Given the description of an element on the screen output the (x, y) to click on. 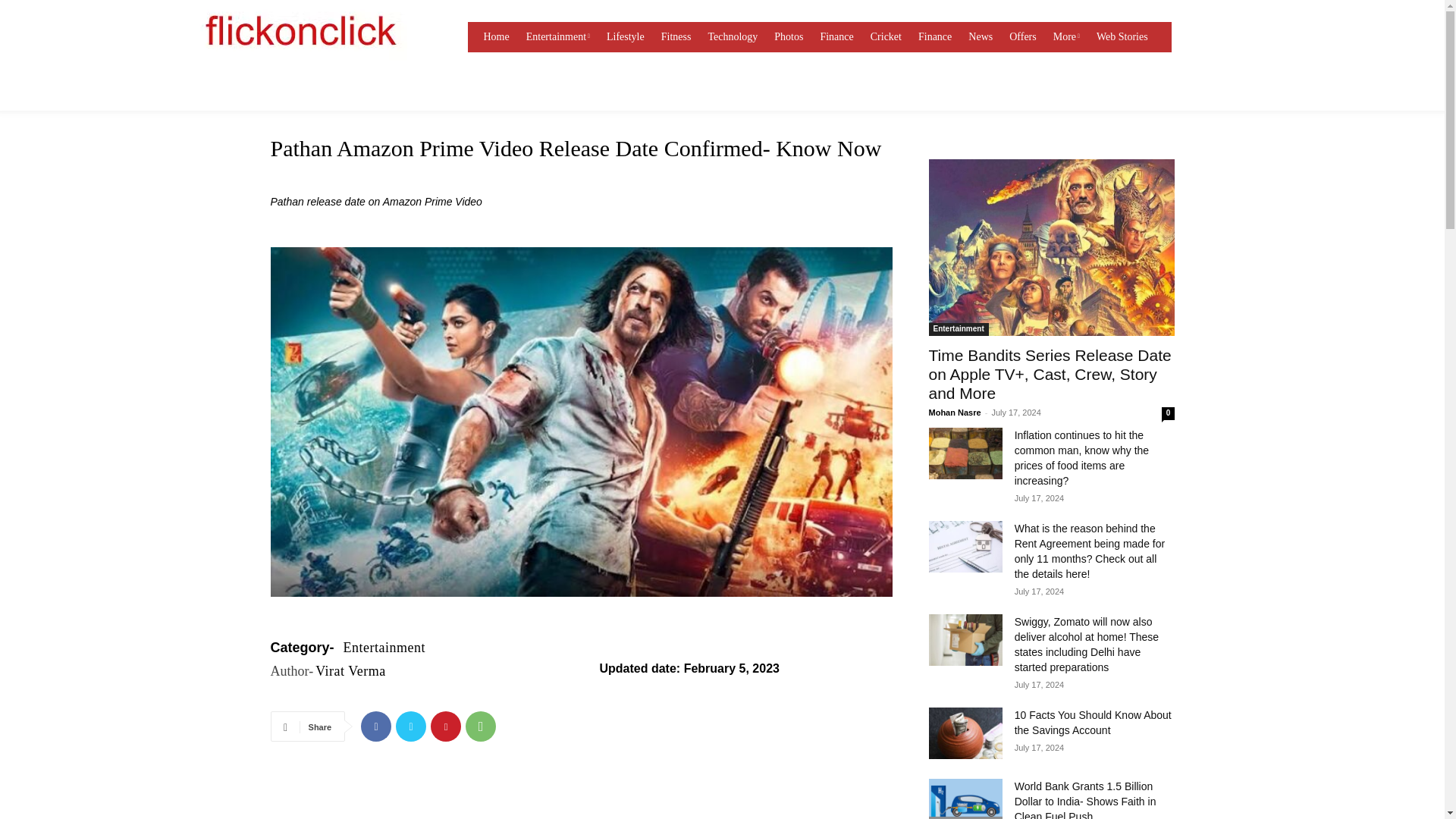
Advertisement (580, 804)
Lifestyle (625, 37)
WhatsApp (480, 726)
Technology (732, 37)
Facebook (376, 726)
Pinterest (445, 726)
News (980, 37)
Cricket (885, 37)
Entertainment (557, 37)
Finance (935, 37)
Home (496, 37)
Twitter (411, 726)
Photos (789, 37)
